Given the description of an element on the screen output the (x, y) to click on. 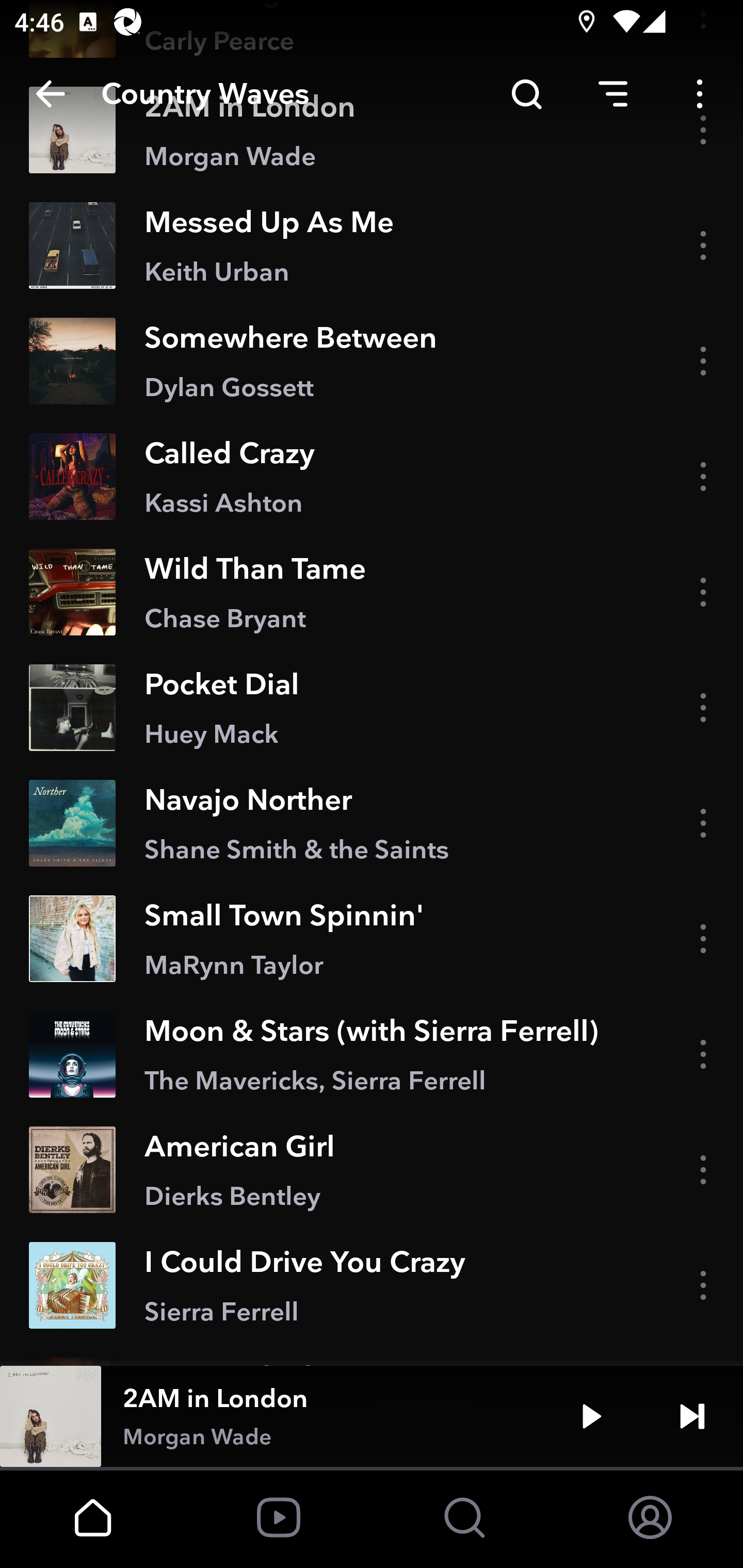
Back (50, 93)
Search (525, 93)
Sorting (612, 93)
Options (699, 93)
2AM in London Morgan Wade (371, 130)
Messed Up As Me Keith Urban (371, 245)
Somewhere Between Dylan Gossett (371, 360)
Called Crazy Kassi Ashton (371, 476)
Wild Than Tame Chase Bryant (371, 591)
Pocket Dial Huey Mack (371, 707)
Navajo Norther Shane Smith & the Saints (371, 823)
Small Town Spinnin' MaRynn Taylor (371, 939)
American Girl Dierks Bentley (371, 1169)
I Could Drive You Crazy Sierra Ferrell (371, 1285)
2AM in London Morgan Wade Play (371, 1416)
Play (590, 1416)
